Given the description of an element on the screen output the (x, y) to click on. 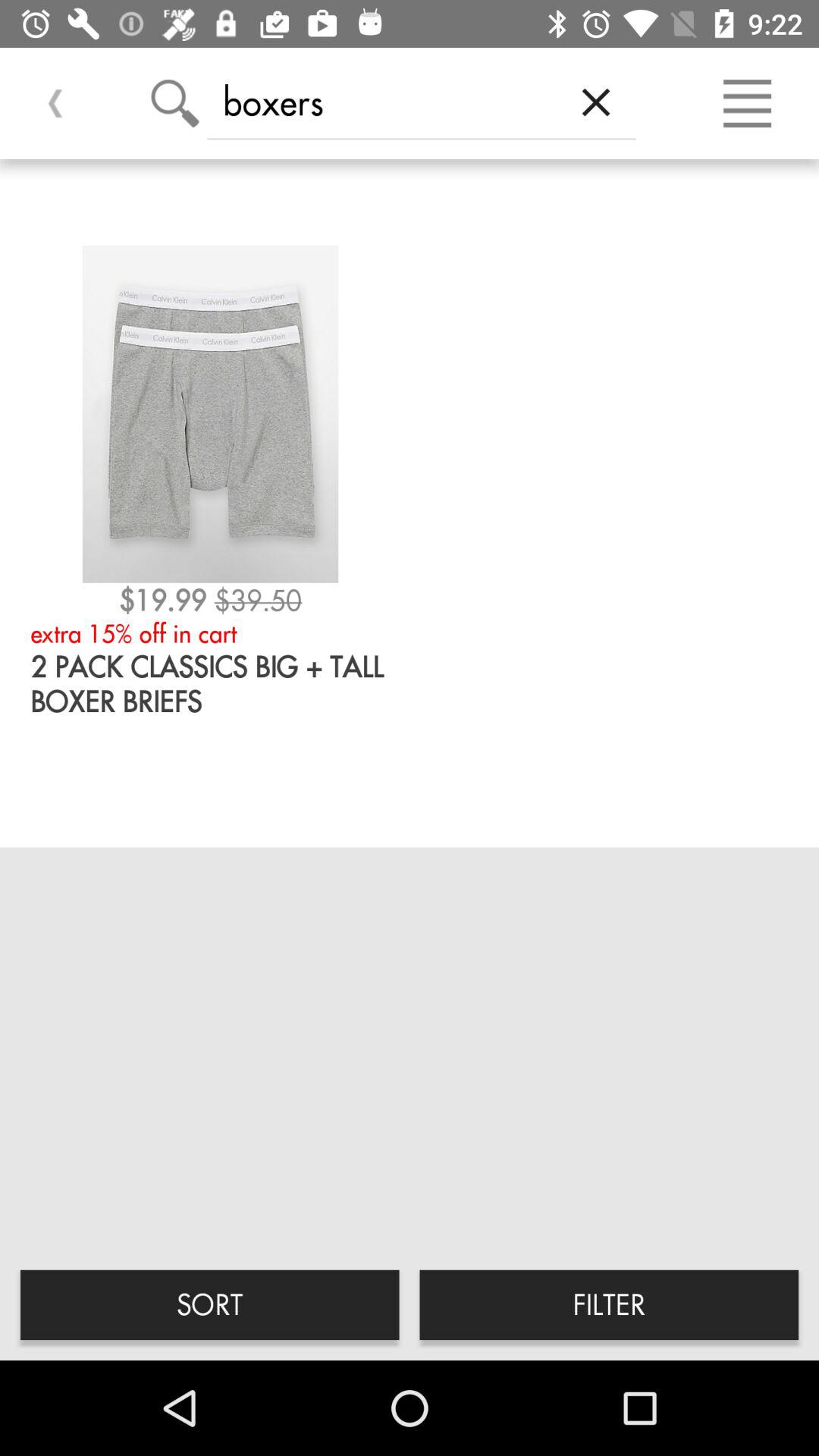
scroll to the sort item (209, 1304)
